Given the description of an element on the screen output the (x, y) to click on. 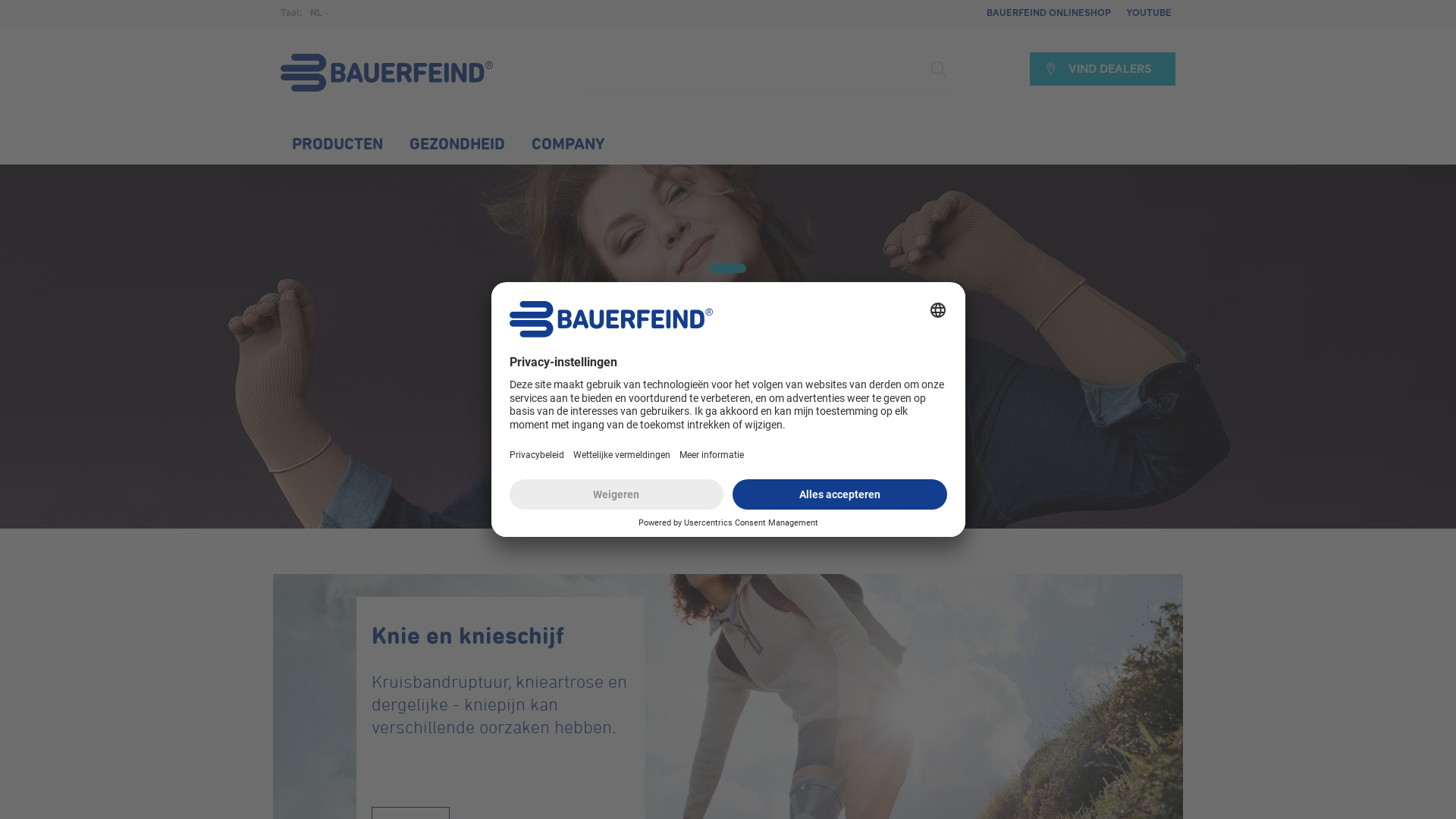
VIND DEALERS Element type: text (1102, 68)
BAUERFEIND ONLINESHOP Element type: text (1048, 12)
PRODUCTEN Element type: text (337, 141)
COMPANY Element type: text (568, 141)
YOUTUBE Element type: text (1146, 12)
GEZONDHEID Element type: text (457, 141)
NL Element type: text (319, 12)
